Given the description of an element on the screen output the (x, y) to click on. 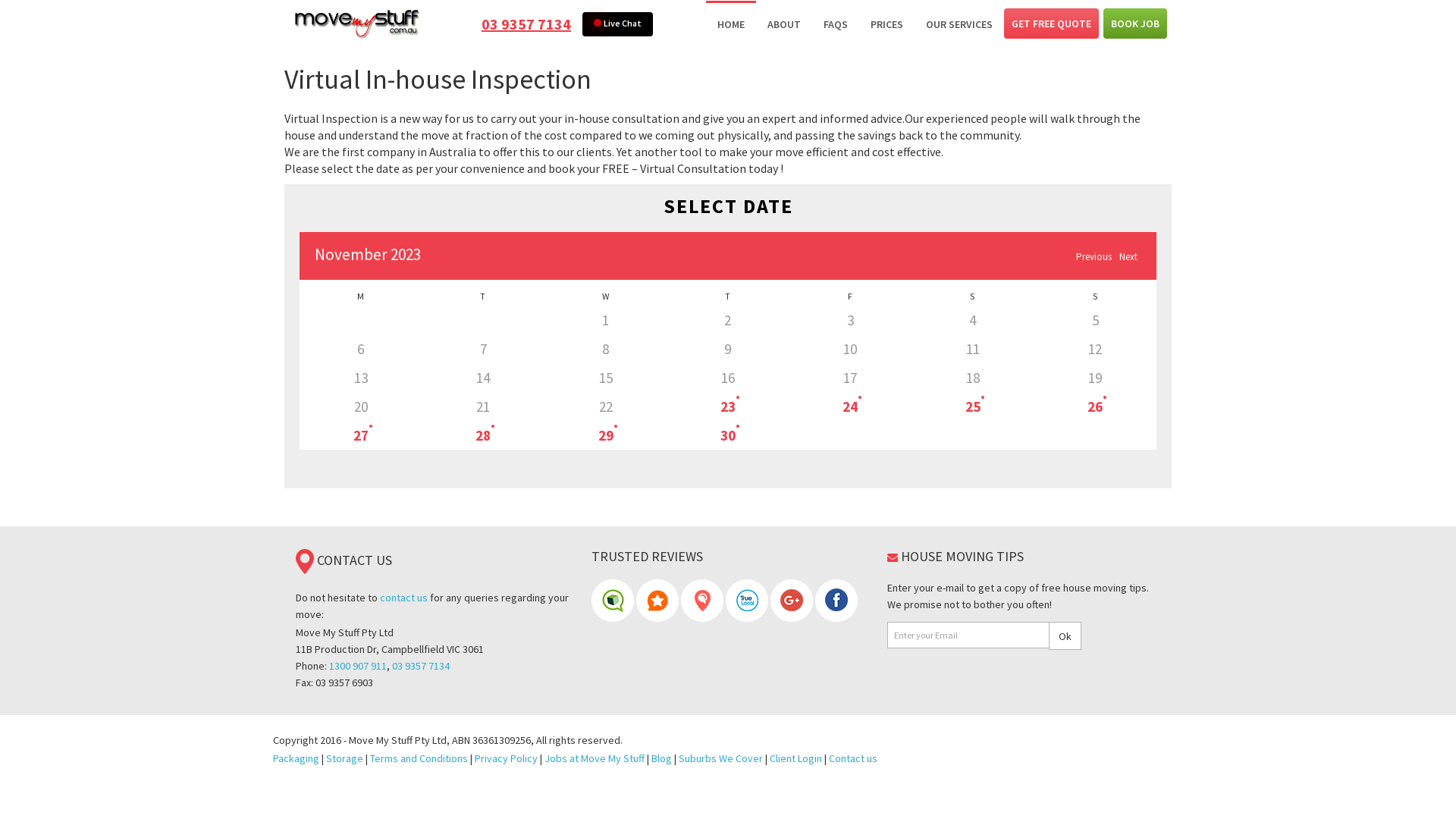
Word of Mouth Element type: hover (657, 600)
Product Review Element type: hover (612, 600)
Live Chat Element type: text (617, 24)
Google Business Element type: hover (791, 598)
28 Element type: text (482, 435)
29 Element type: text (605, 435)
Find a mover Element type: hover (702, 598)
BOOK JOB Element type: text (1135, 23)
Contact Us Element type: hover (304, 559)
True Local Element type: hover (747, 598)
30 Element type: text (727, 435)
contact us Element type: text (403, 597)
Contact Us Element type: hover (304, 561)
Find a mover Element type: hover (701, 600)
Terms and Conditions Element type: text (418, 758)
GET FREE QUOTE Element type: text (1051, 23)
23 Element type: text (727, 406)
03 9357 7134 Element type: text (526, 23)
Privacy Policy Element type: text (505, 758)
FAQS Element type: text (835, 23)
Next Element type: text (1128, 257)
Jobs at Move My Stuff Element type: text (594, 758)
Suburbs We Cover Element type: text (720, 758)
OUR SERVICES Element type: text (959, 23)
House Moving Tips Element type: hover (892, 555)
House Moving Tips Element type: hover (892, 557)
Storage Element type: text (344, 758)
Word of Mouth Element type: hover (657, 598)
26 Element type: text (1094, 406)
Previous Element type: text (1093, 257)
HOME Element type: text (731, 23)
03 9357 7134 Element type: text (420, 665)
Client Login Element type: text (795, 758)
Product Review Element type: hover (612, 598)
Google Business Element type: hover (791, 600)
Find a mover Element type: hover (701, 598)
27 Element type: text (360, 435)
24 Element type: text (849, 406)
Product Review Element type: hover (613, 598)
Packaging Element type: text (296, 758)
Facebook Element type: hover (836, 600)
True Local Element type: hover (746, 598)
Word of Mouth Element type: hover (658, 598)
1300 907 911 Element type: text (357, 665)
Facebook Element type: hover (836, 598)
Ok Element type: text (1064, 635)
ABOUT Element type: text (784, 23)
PRICES Element type: text (886, 23)
True Local Element type: hover (746, 600)
Contact us Element type: text (852, 758)
25 Element type: text (972, 406)
Blog Element type: text (661, 758)
